Given the description of an element on the screen output the (x, y) to click on. 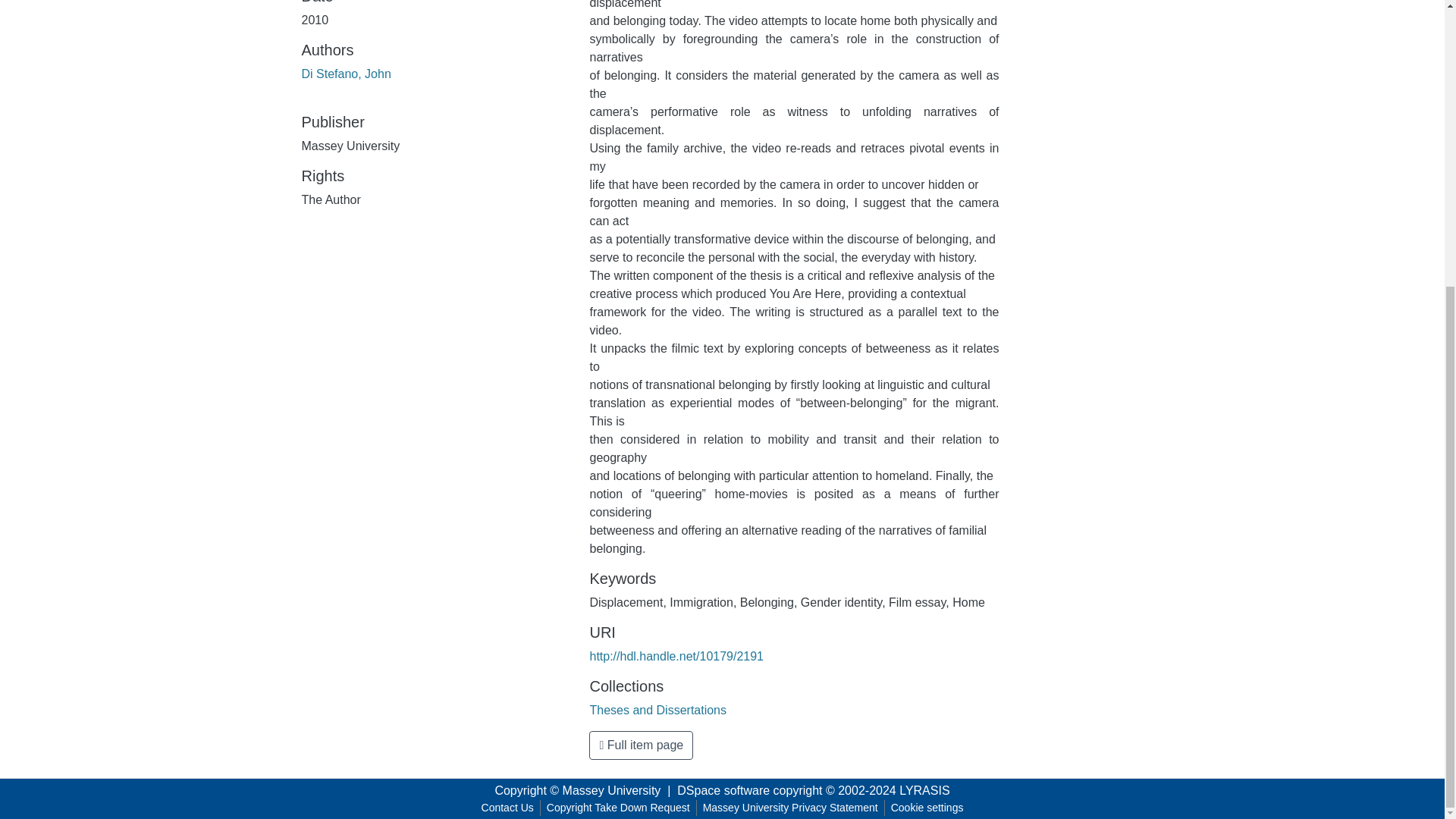
Di Stefano, John (346, 73)
LYRASIS (924, 789)
Contact Us (508, 807)
Full item page (641, 745)
DSpace software (723, 789)
Theses and Dissertations (657, 709)
